Given the description of an element on the screen output the (x, y) to click on. 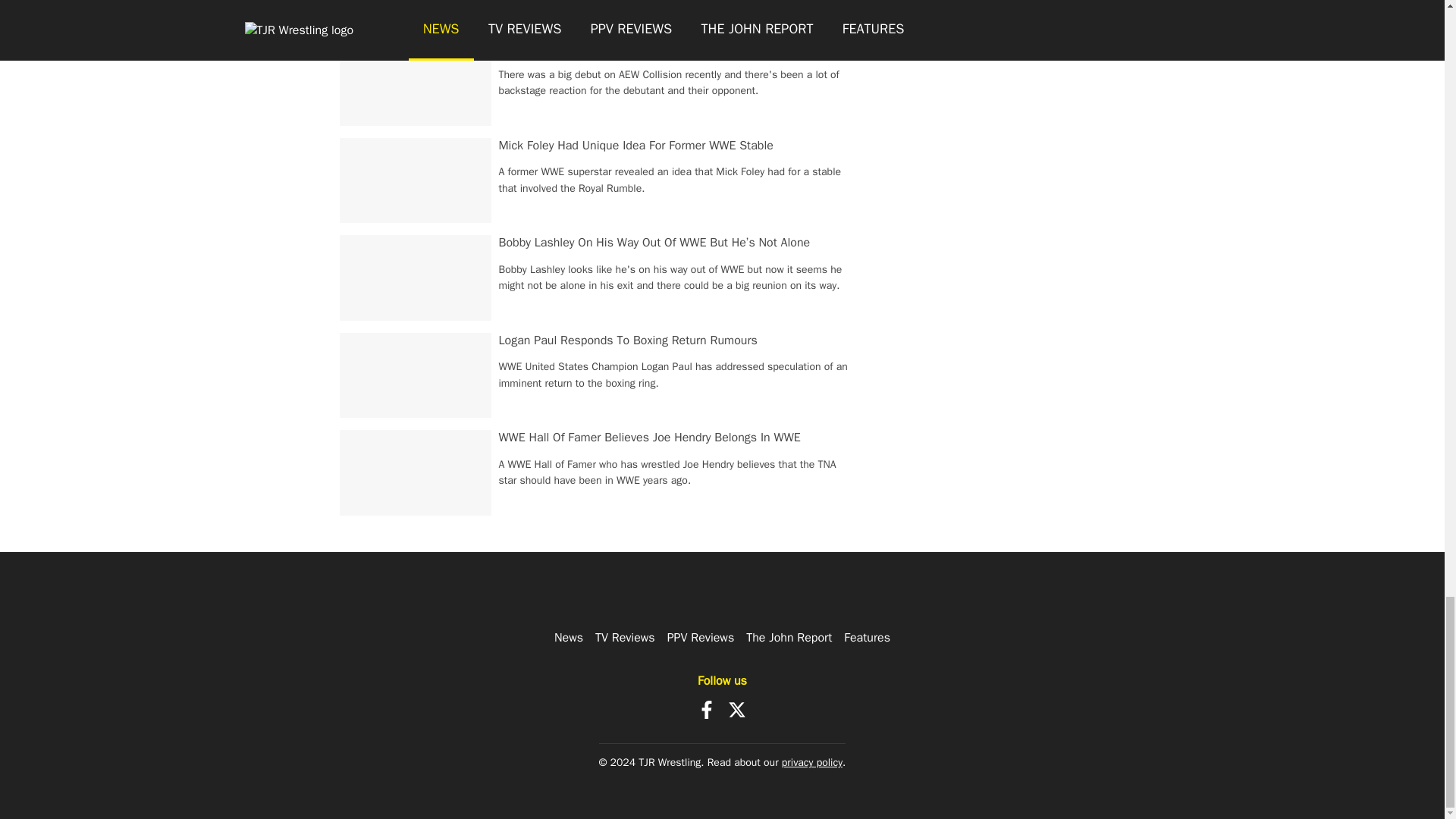
Mick Foley Had Unique Idea For Former WWE Stable (636, 145)
Logan Paul Responds To Boxing Return Rumours (628, 340)
X (736, 710)
Mysterious AEW Debutant Earns Plenty Of Praise (628, 47)
Facebook (706, 710)
